Given the description of an element on the screen output the (x, y) to click on. 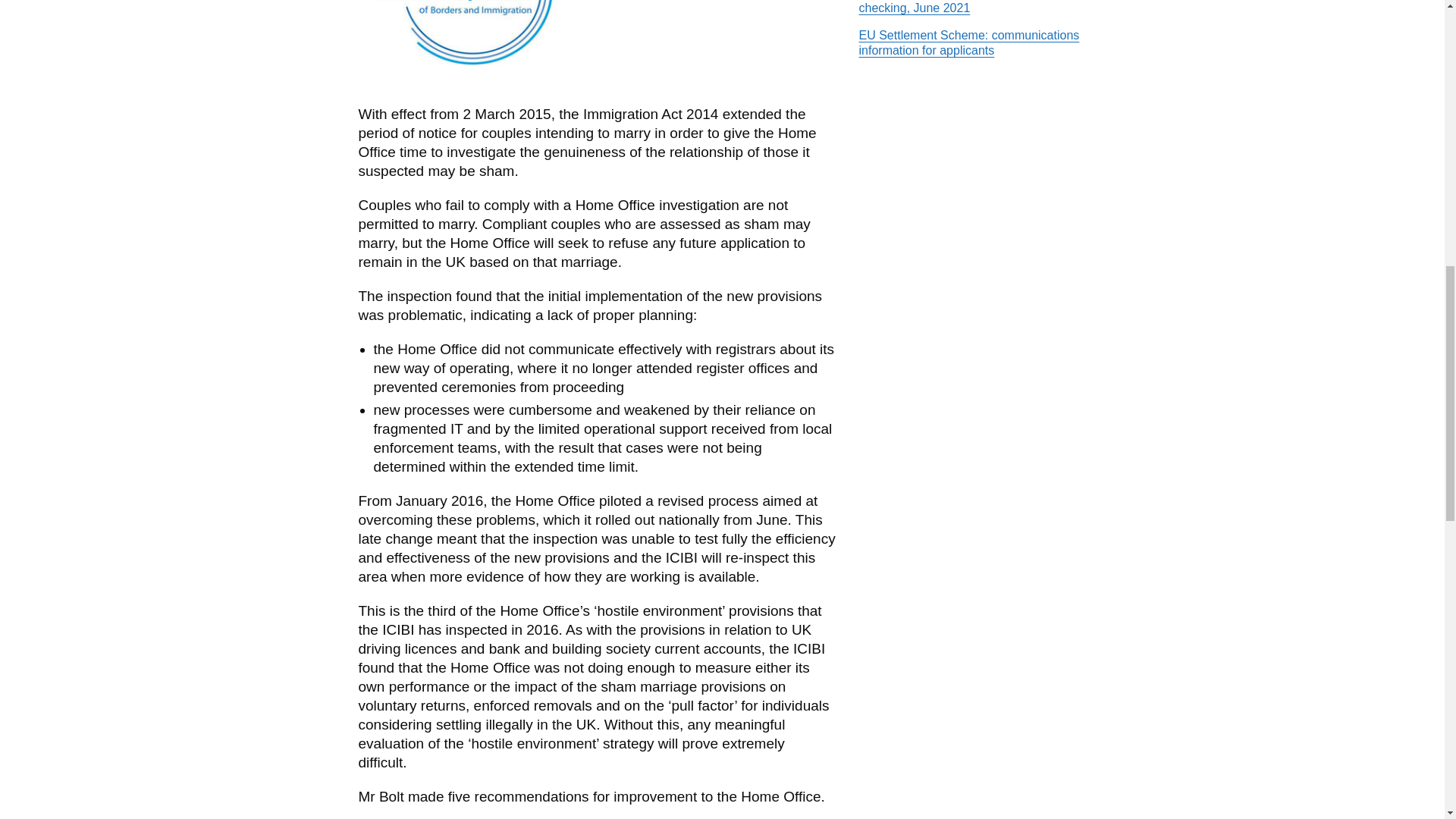
ESA underpayments: progress on checking, June 2021 (949, 7)
